Given the description of an element on the screen output the (x, y) to click on. 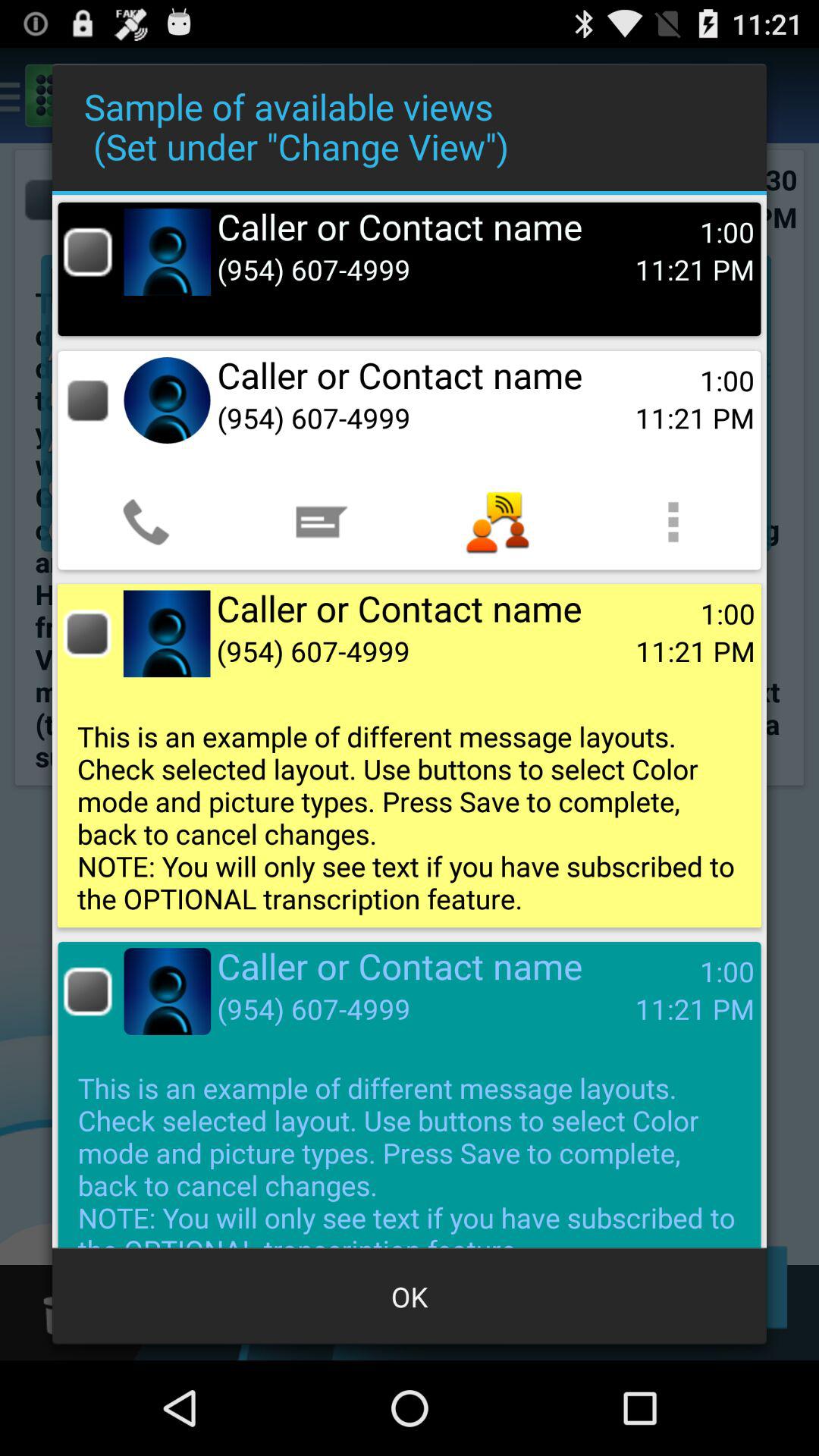
end call (87, 991)
